Given the description of an element on the screen output the (x, y) to click on. 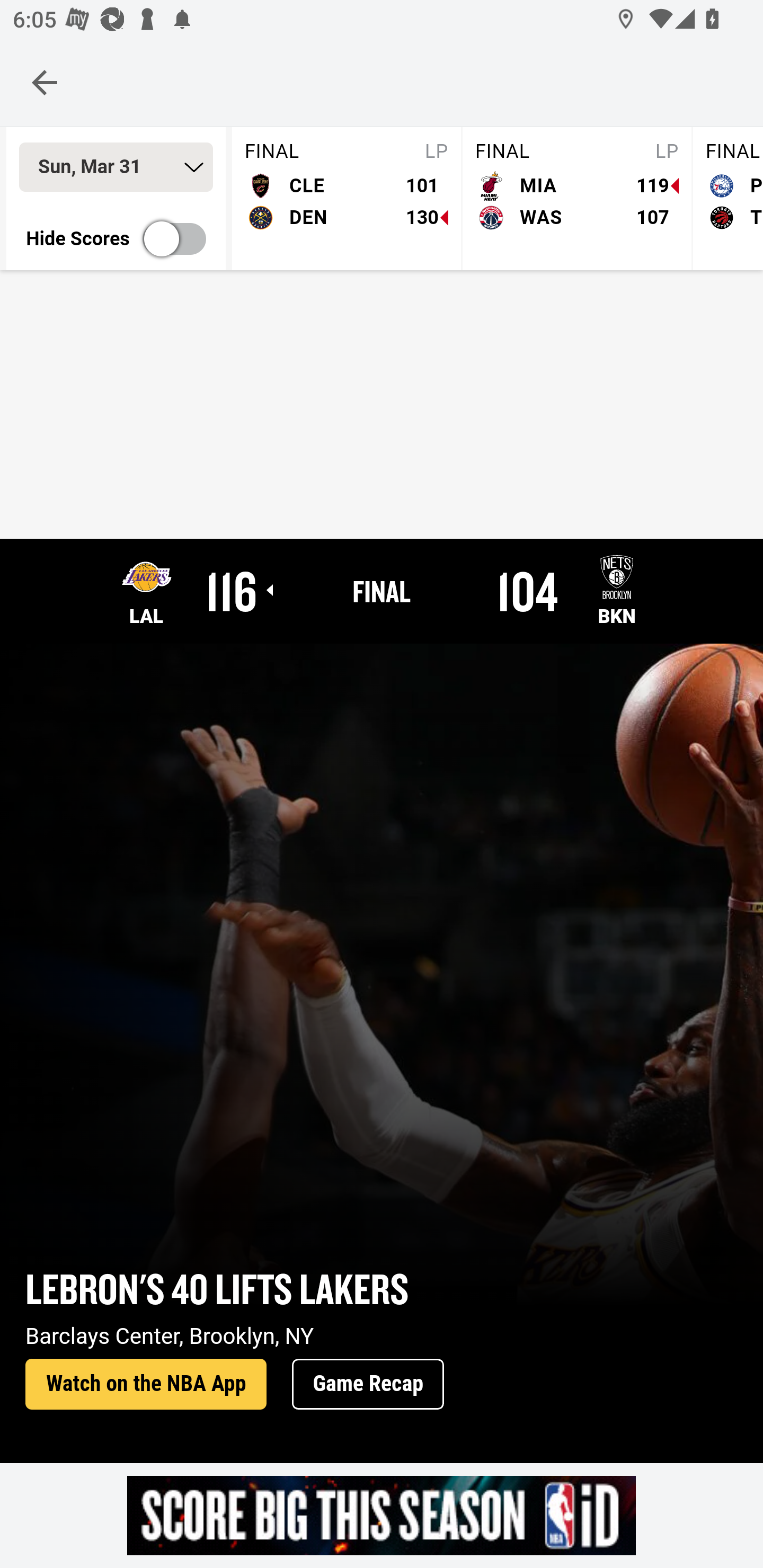
Navigate up (44, 82)
Sun, Mar 31 (115, 166)
Watch on the NBA App (146, 1384)
Game Recap (367, 1384)
g5nqqygr7owph (381, 1515)
